Given the description of an element on the screen output the (x, y) to click on. 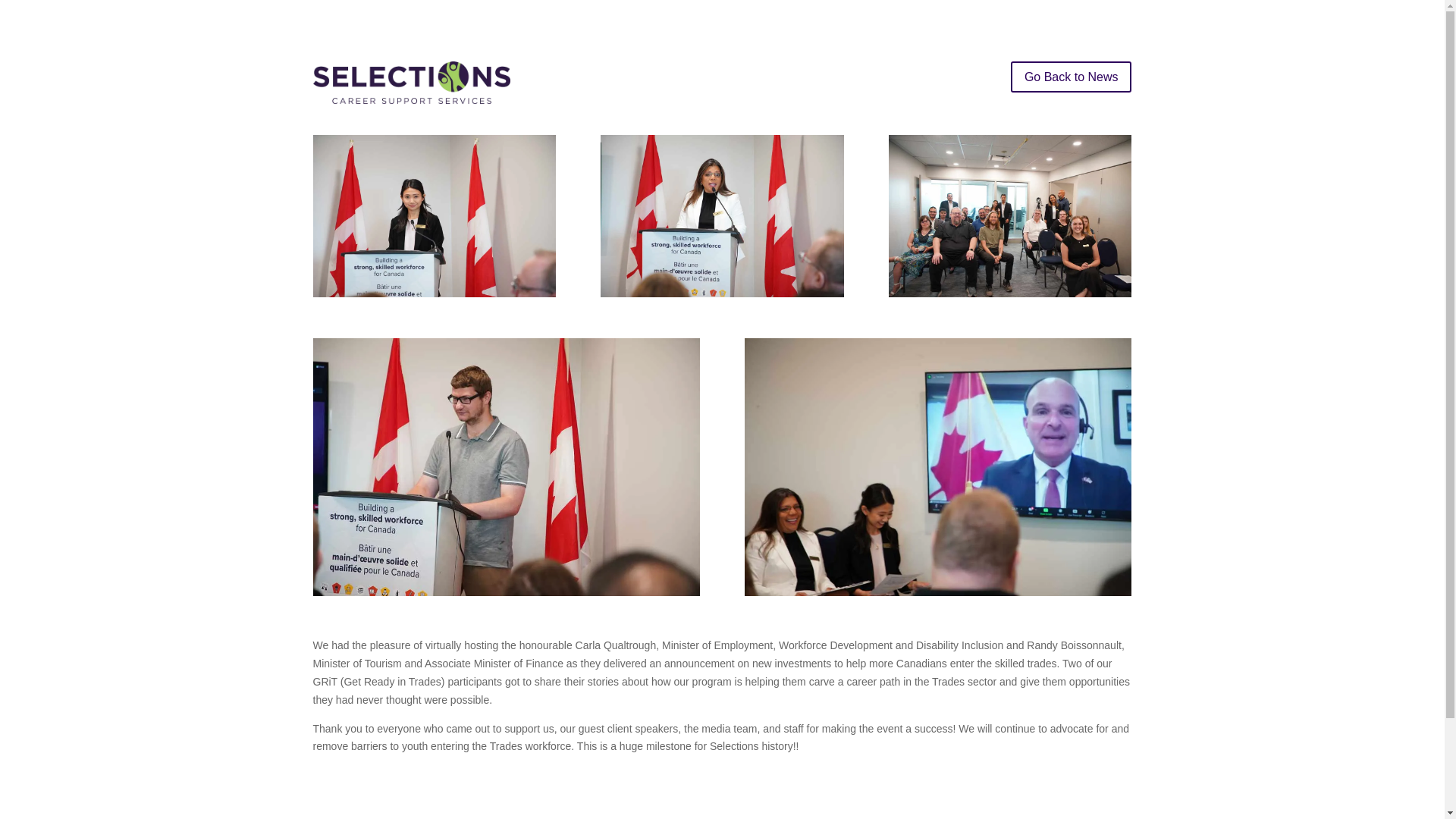
Selections-Logo (411, 82)
